Given the description of an element on the screen output the (x, y) to click on. 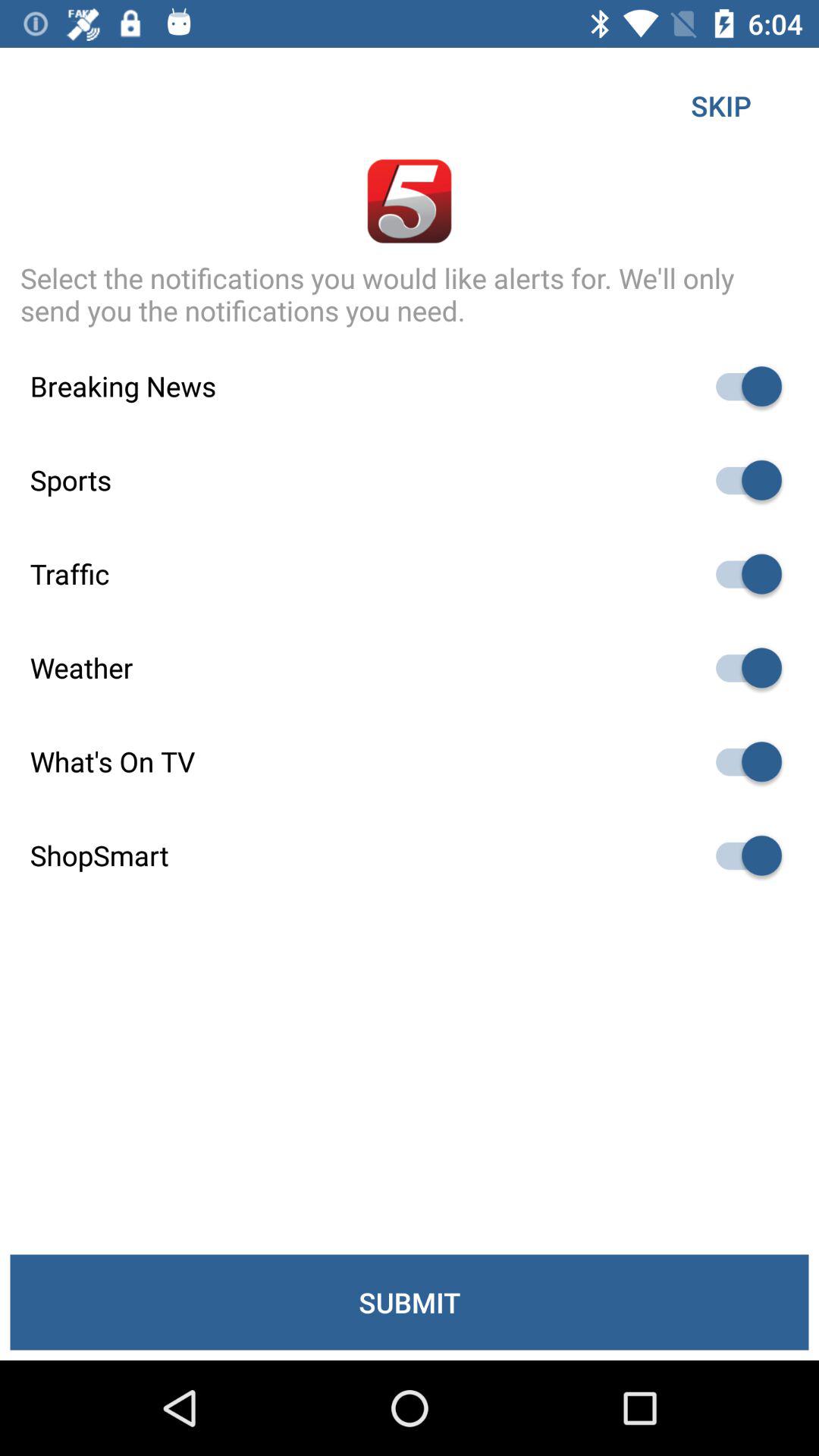
select the icon above the select the notifications item (720, 105)
